Given the description of an element on the screen output the (x, y) to click on. 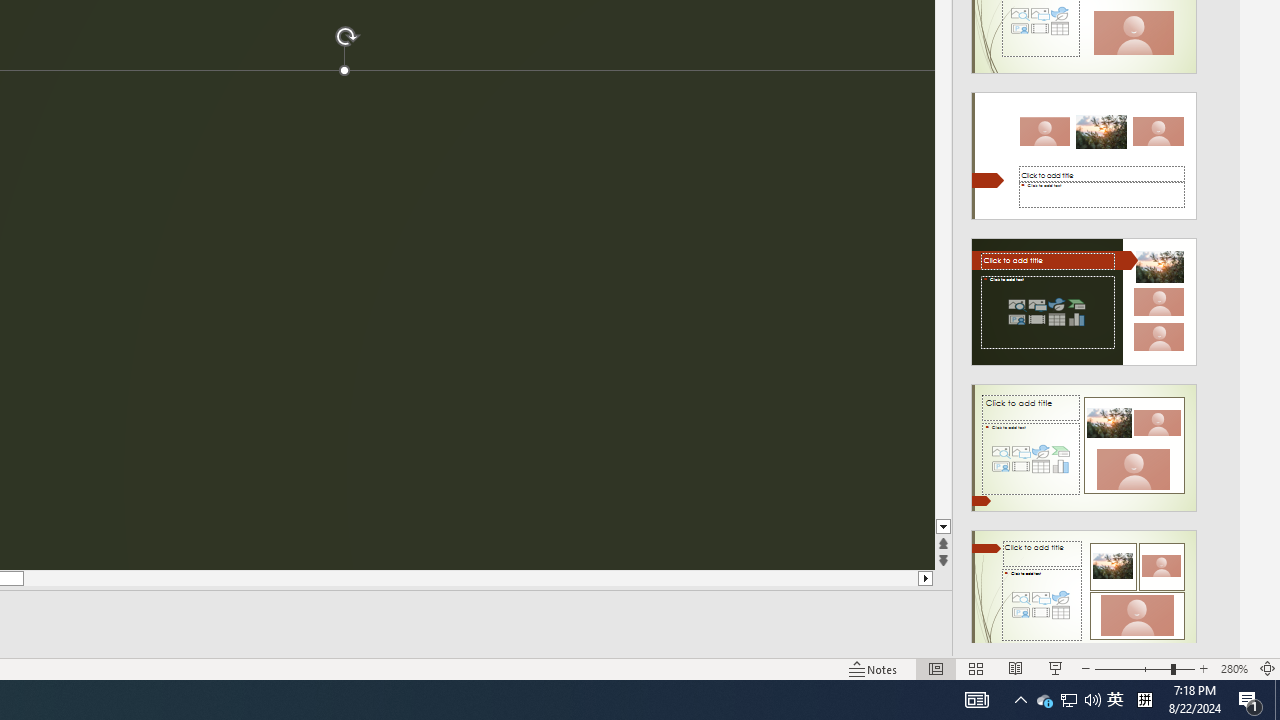
Zoom 280% (1234, 668)
